Given the description of an element on the screen output the (x, y) to click on. 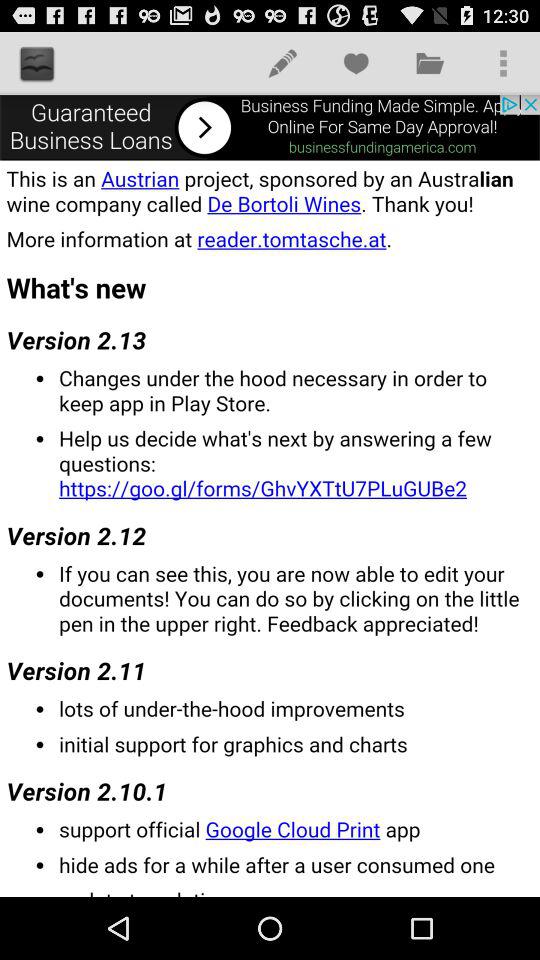
view advertisement (270, 127)
